Given the description of an element on the screen output the (x, y) to click on. 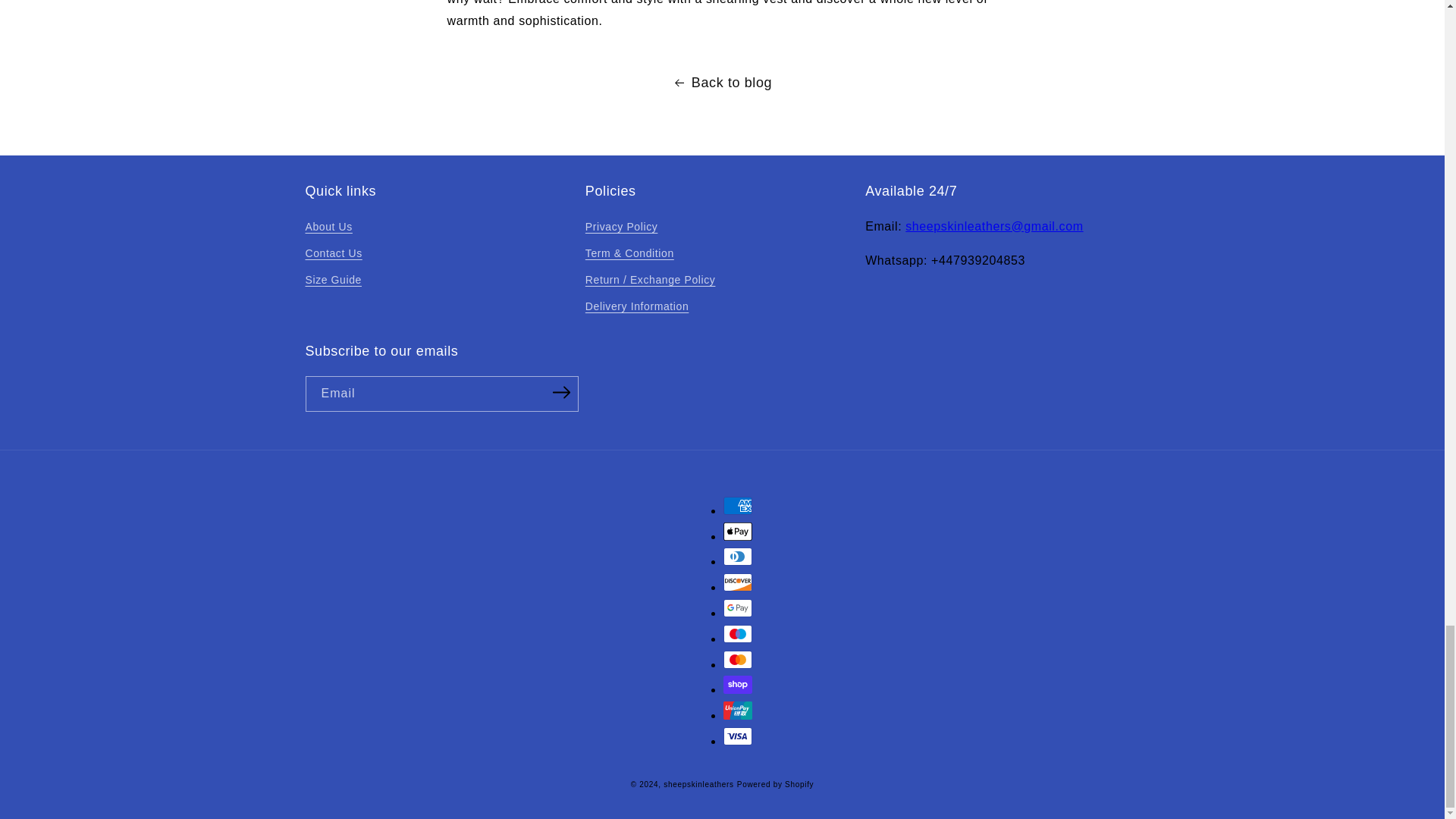
Google Pay (737, 607)
Shop Pay (737, 684)
Visa (737, 736)
American Express (737, 505)
Mastercard (737, 659)
Maestro (737, 633)
Apple Pay (737, 531)
Union Pay (737, 710)
Diners Club (737, 556)
Discover (737, 582)
